Given the description of an element on the screen output the (x, y) to click on. 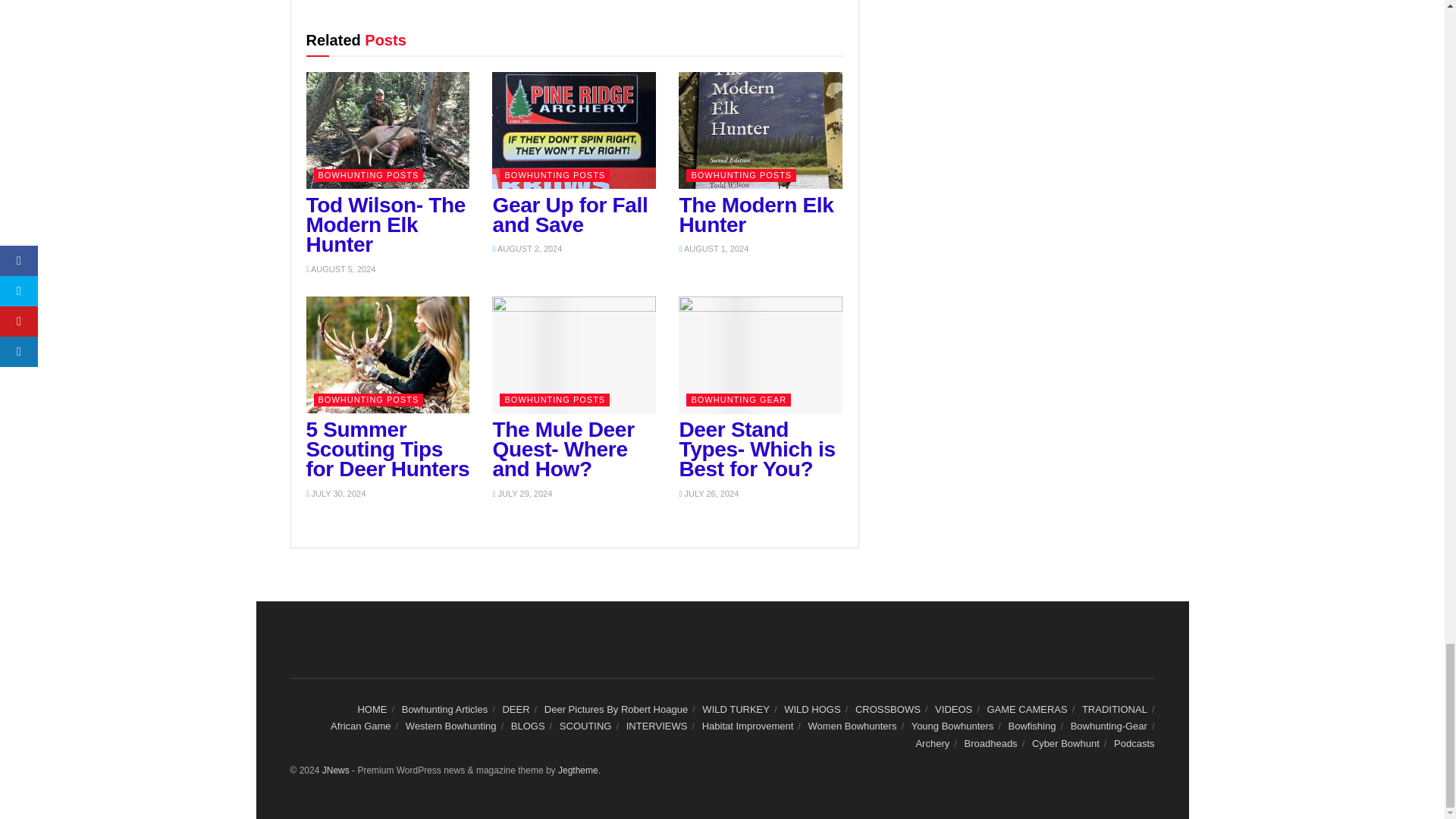
Jegtheme (577, 769)
